Given the description of an element on the screen output the (x, y) to click on. 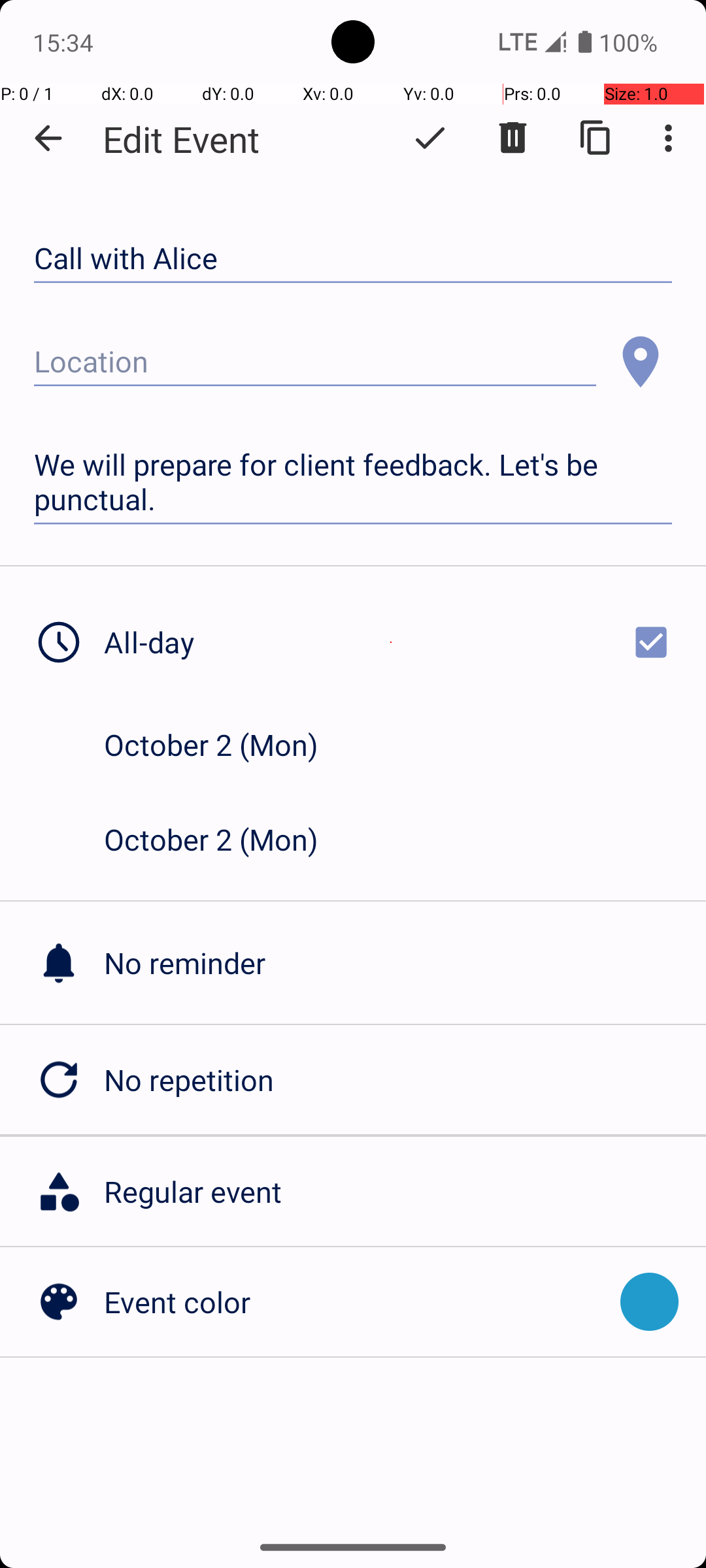
We will prepare for client feedback. Let's be punctual. Element type: android.widget.EditText (352, 482)
October 2 (Mon) Element type: android.widget.TextView (224, 744)
